Given the description of an element on the screen output the (x, y) to click on. 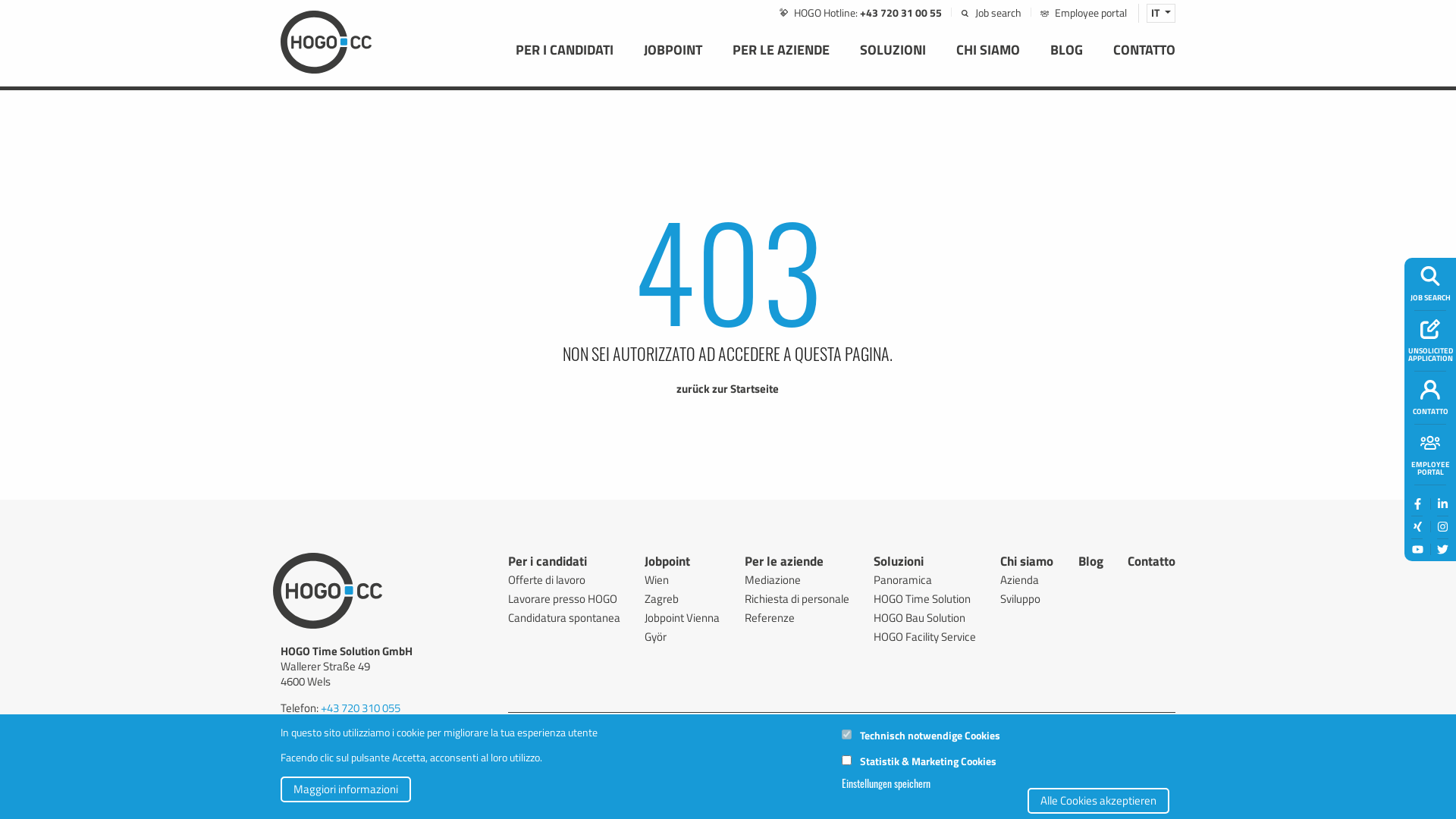
YouTube Element type: hover (1417, 549)
Job search Element type: hover (841, 724)
Alle Cookies akzeptieren Element type: text (1098, 799)
Richiesta di personale Element type: text (796, 598)
Follow us on Xing Element type: hover (1417, 526)
+43 720 310 055 Element type: text (360, 707)
Follow us on Instagram Element type: hover (591, 725)
Employee portal Element type: hover (1430, 442)
Instagram Element type: hover (590, 724)
Sviluppo Element type: text (1026, 598)
Unsolicited application Element type: hover (1430, 328)
Zagreb Element type: text (681, 598)
Lavorare presso HOGO Element type: text (564, 598)
LinkedIn Element type: hover (539, 724)
Referenze Element type: text (796, 617)
Follow us on Xing Element type: hover (566, 725)
Facebook Element type: hover (514, 724)
Newsletter registration Element type: hover (934, 724)
Employee portal Element type: text (1083, 12)
Jobpoint Vienna Element type: text (681, 617)
CONTATTO Element type: text (1144, 60)
Twitter Element type: hover (640, 724)
Facebook Element type: hover (1417, 503)
Twitter Element type: hover (1442, 549)
Follow us on Facebook Element type: hover (1417, 503)
office@hogo.cc Element type: text (354, 737)
Follow us on Facebook Element type: hover (516, 725)
Job search Element type: hover (1430, 275)
Employee portal Element type: hover (1088, 724)
Per le aziende Element type: text (783, 563)
Follow us on Twitter Element type: hover (640, 725)
Employee portal Element type: text (1129, 723)
CHI SIAMO Element type: text (988, 60)
HOGO Facility Service Element type: text (924, 636)
Wien Element type: text (681, 579)
PER LE AZIENDE Element type: text (780, 60)
Salta al contenuto principale Element type: text (0, 90)
SOLUZIONI Element type: text (892, 60)
Soluzioni Element type: text (898, 563)
Contatto Element type: hover (1430, 389)
Offerte di lavoro Element type: text (564, 579)
Protezione dei dati Element type: text (460, 799)
CGC Element type: text (391, 799)
Azienda Element type: text (1026, 579)
Xing Element type: hover (564, 724)
Mediazione Element type: text (796, 579)
Chi siamo Element type: text (1026, 563)
Candidatura spontanea Element type: text (564, 617)
Follow us on YouTube Element type: hover (1417, 549)
BLOG Element type: text (1066, 60)
Per i candidati Element type: text (547, 563)
Job search Element type: text (868, 723)
Maggiori informazioni Element type: text (345, 789)
Jobpoint Element type: text (667, 563)
LinkedIn Element type: hover (1442, 503)
Job search Element type: text (990, 12)
HOGO Bau Solution Element type: text (924, 617)
Einstellungen speichern Element type: text (885, 783)
Home Element type: hover (325, 40)
Blog Element type: text (1090, 563)
YouTube Element type: hover (615, 724)
JOBPOINT Element type: text (672, 60)
Follow us on YouTube Element type: hover (616, 725)
Xing Element type: hover (1417, 526)
PER I CANDIDATI Element type: text (564, 60)
Newsletter registration Element type: text (992, 723)
Panoramica Element type: text (924, 579)
Informazioni legali Element type: text (324, 799)
Instagram Element type: hover (1442, 526)
HOGO Time Solution Element type: text (924, 598)
Contatto Element type: text (1151, 563)
Follow us on LinkedIn Element type: hover (541, 725)
